Given the description of an element on the screen output the (x, y) to click on. 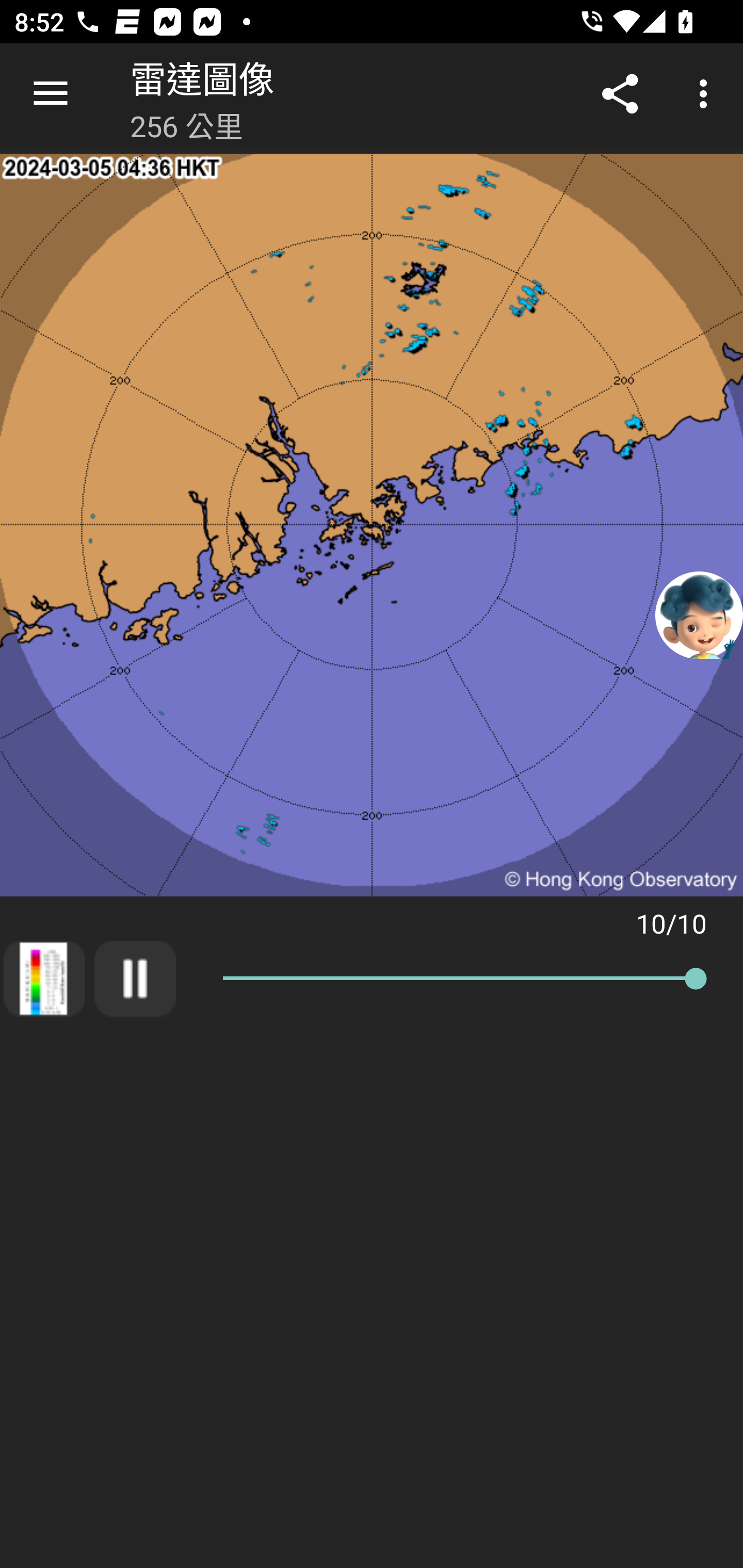
向上瀏覽 (50, 93)
分享 (619, 93)
更多選項 (706, 93)
聊天機械人 (699, 614)
圖解 (44, 978)
暫停 (135, 978)
